Given the description of an element on the screen output the (x, y) to click on. 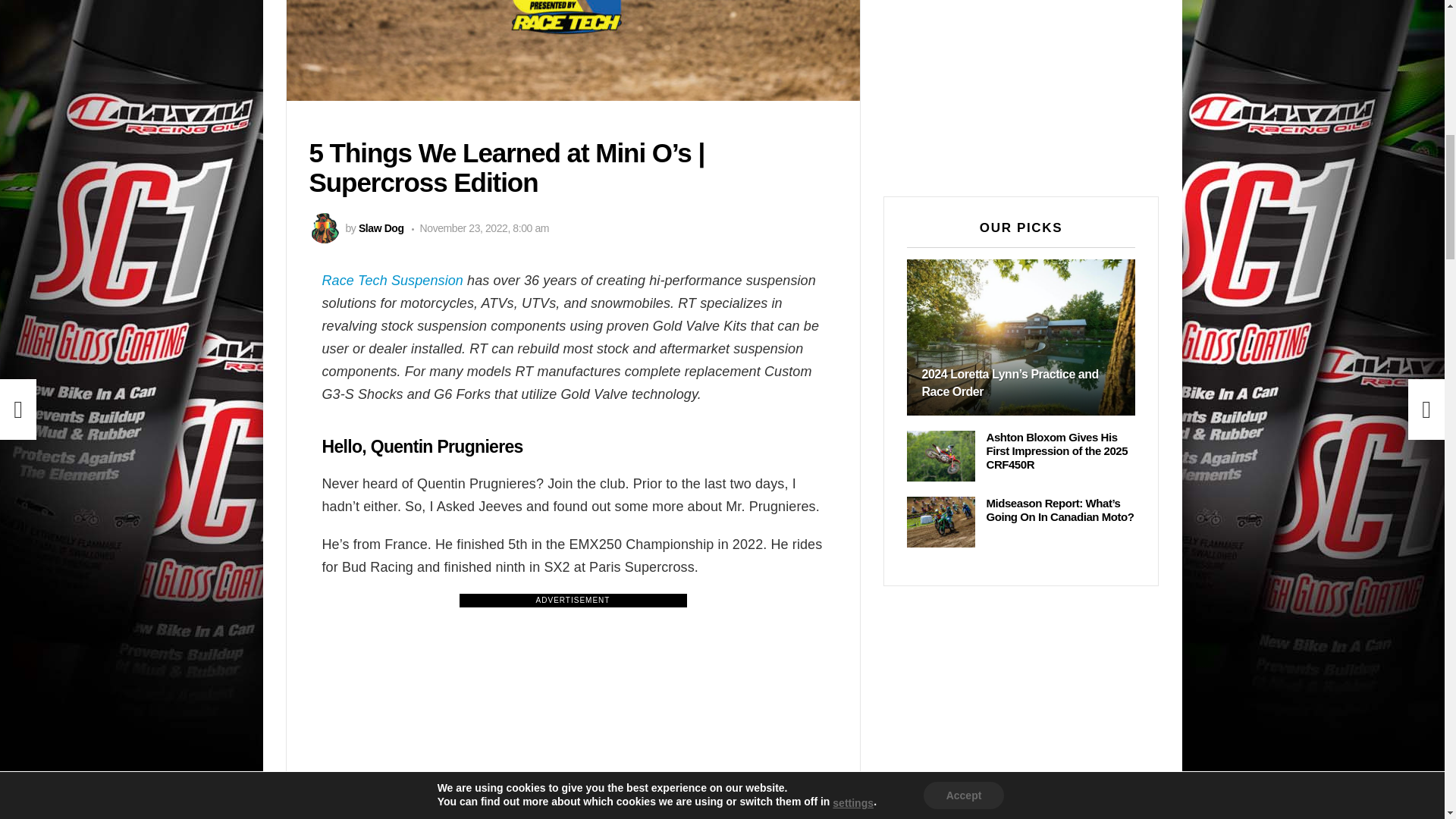
Posts by Slaw Dog (381, 227)
